Given the description of an element on the screen output the (x, y) to click on. 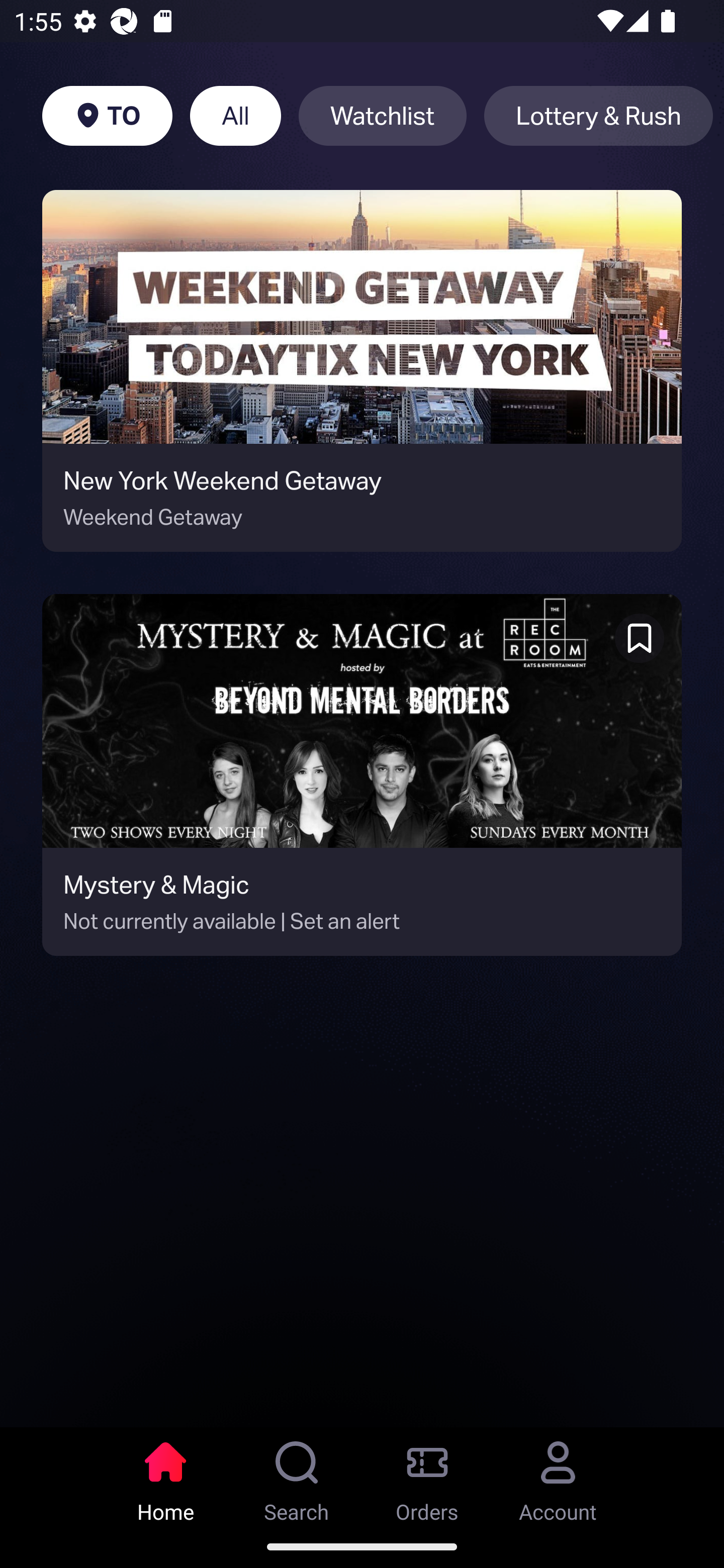
TO (106, 115)
All (234, 115)
Watchlist (382, 115)
Lottery & Rush (598, 115)
New York Weekend Getaway Weekend Getaway (361, 370)
Search (296, 1475)
Orders (427, 1475)
Account (558, 1475)
